Given the description of an element on the screen output the (x, y) to click on. 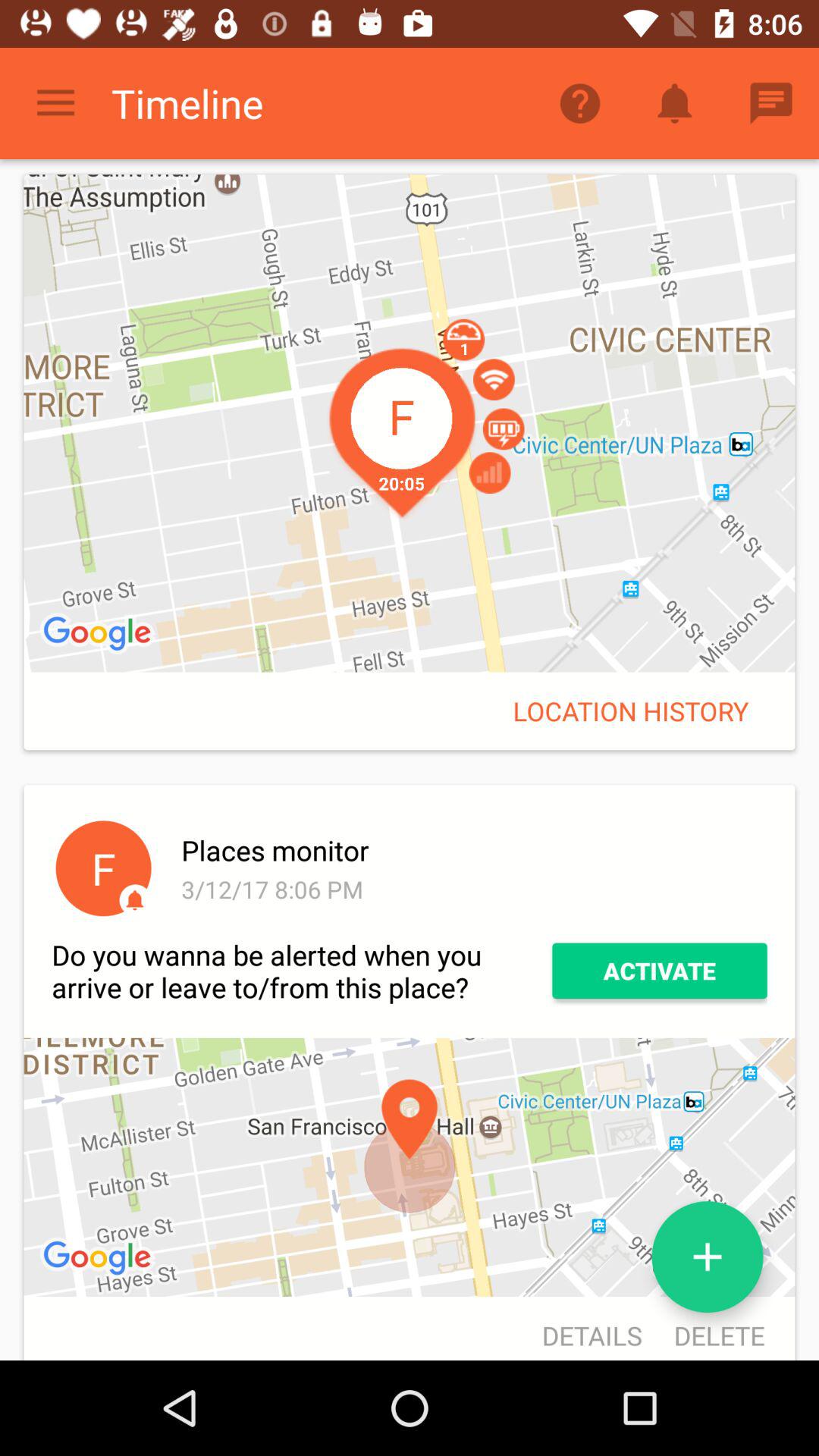
click the icon next to f (472, 889)
